Given the description of an element on the screen output the (x, y) to click on. 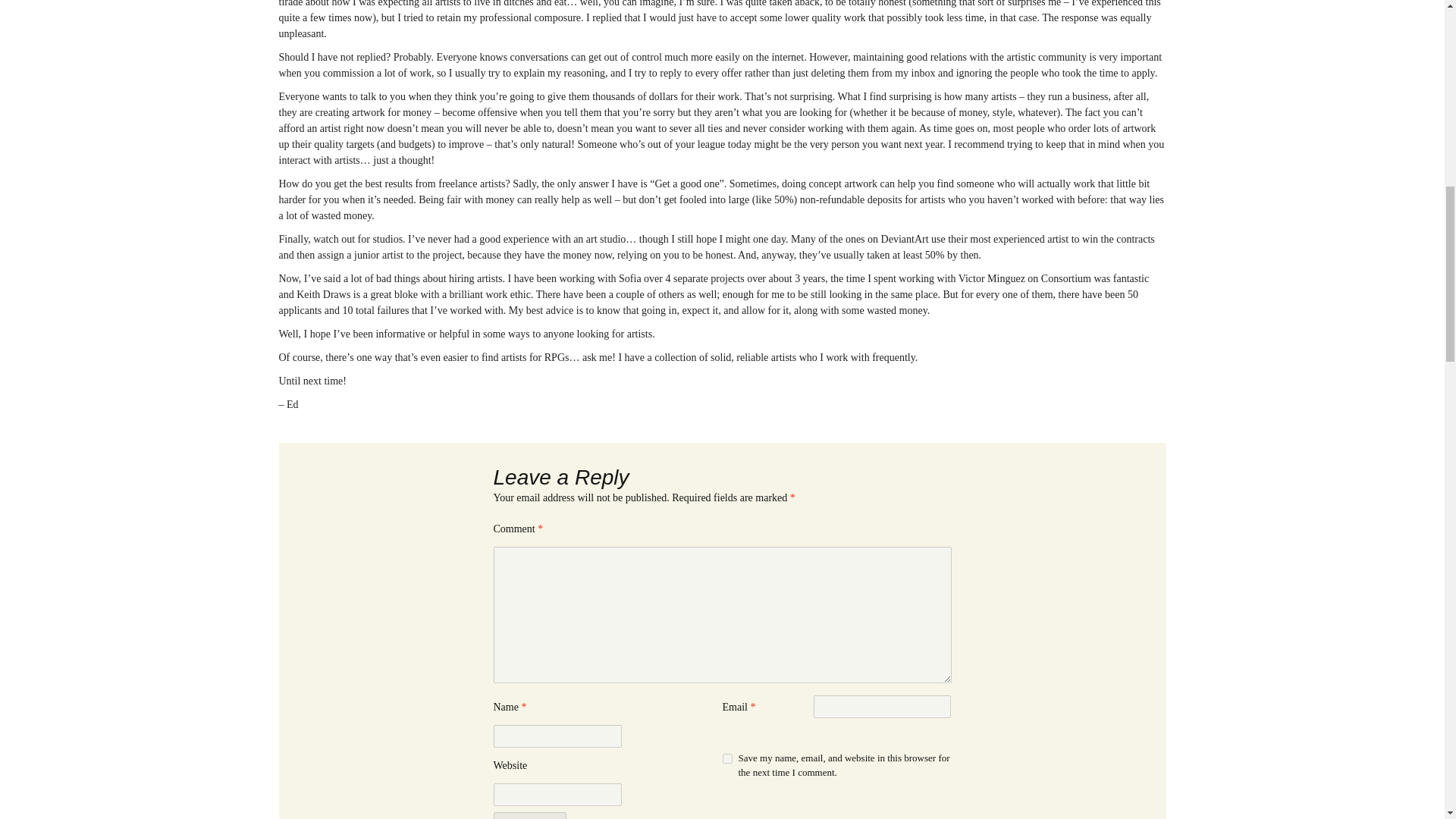
yes (727, 758)
Post Comment (529, 815)
Post Comment (529, 815)
